Given the description of an element on the screen output the (x, y) to click on. 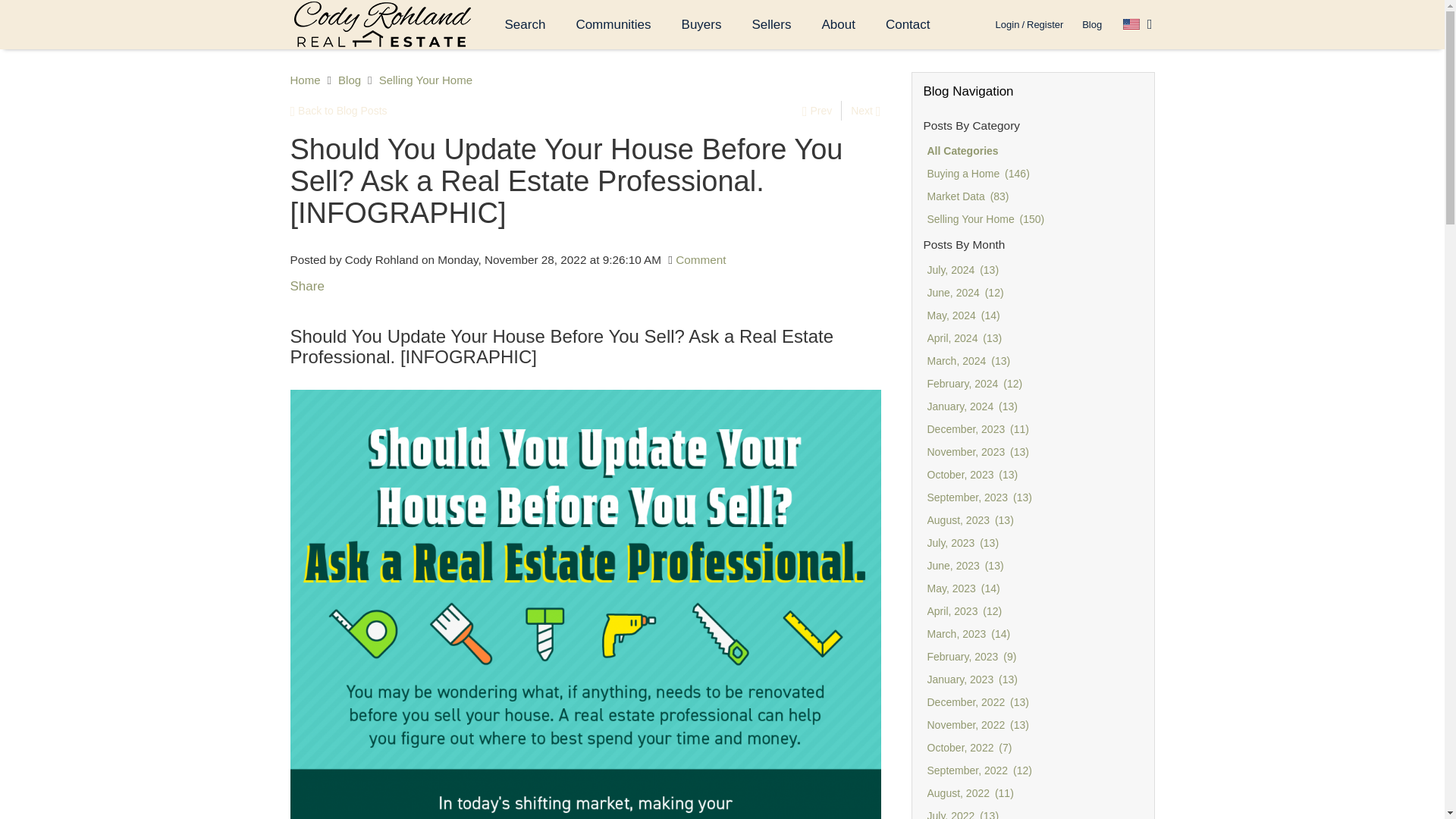
Contact (907, 24)
Blog (1091, 24)
About (837, 24)
Buyers (701, 24)
Communities (612, 24)
Sellers (771, 24)
Search (524, 24)
Select Language (1137, 24)
Register (1044, 24)
